Given the description of an element on the screen output the (x, y) to click on. 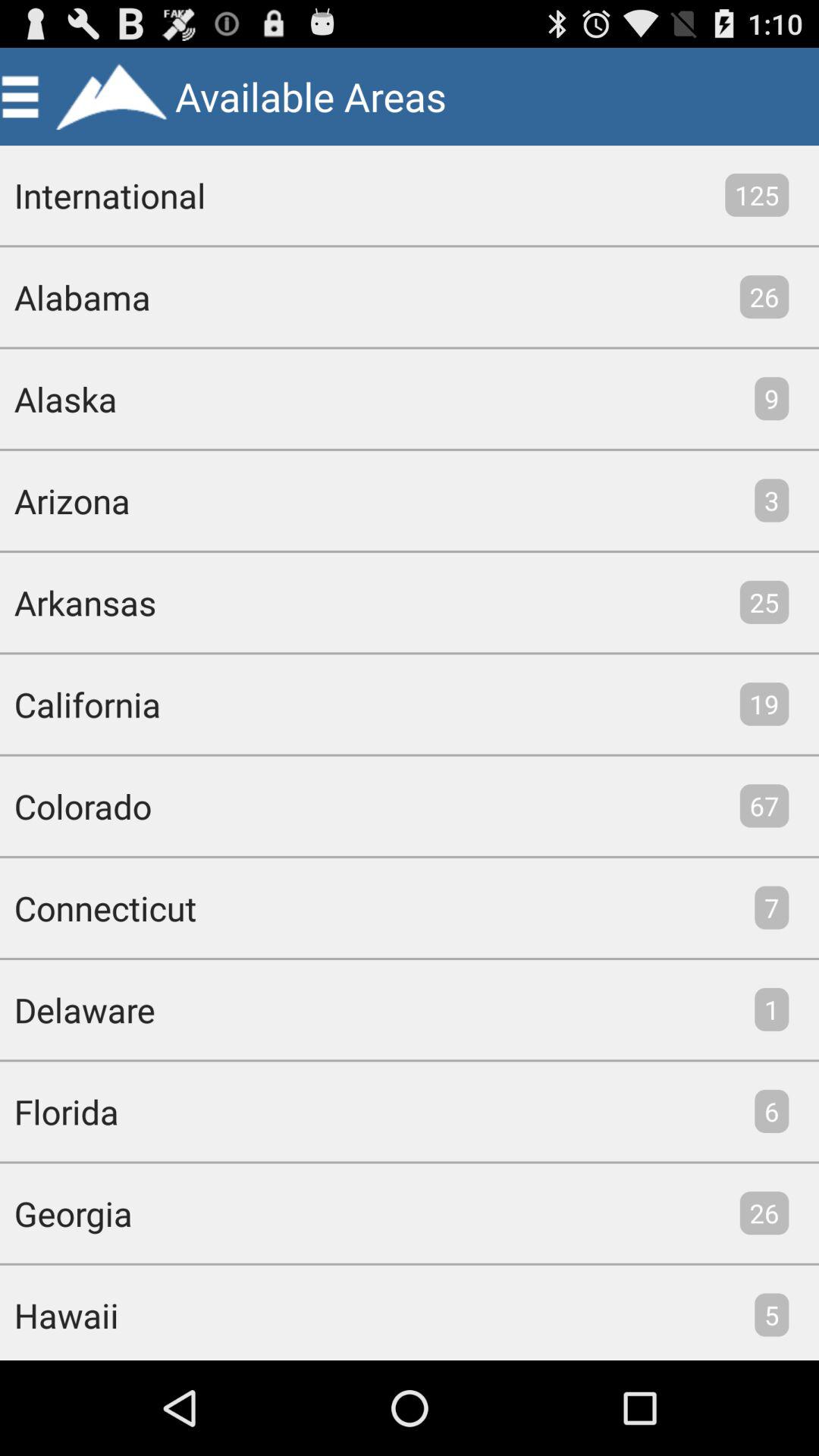
scroll to alabama app (75, 296)
